Given the description of an element on the screen output the (x, y) to click on. 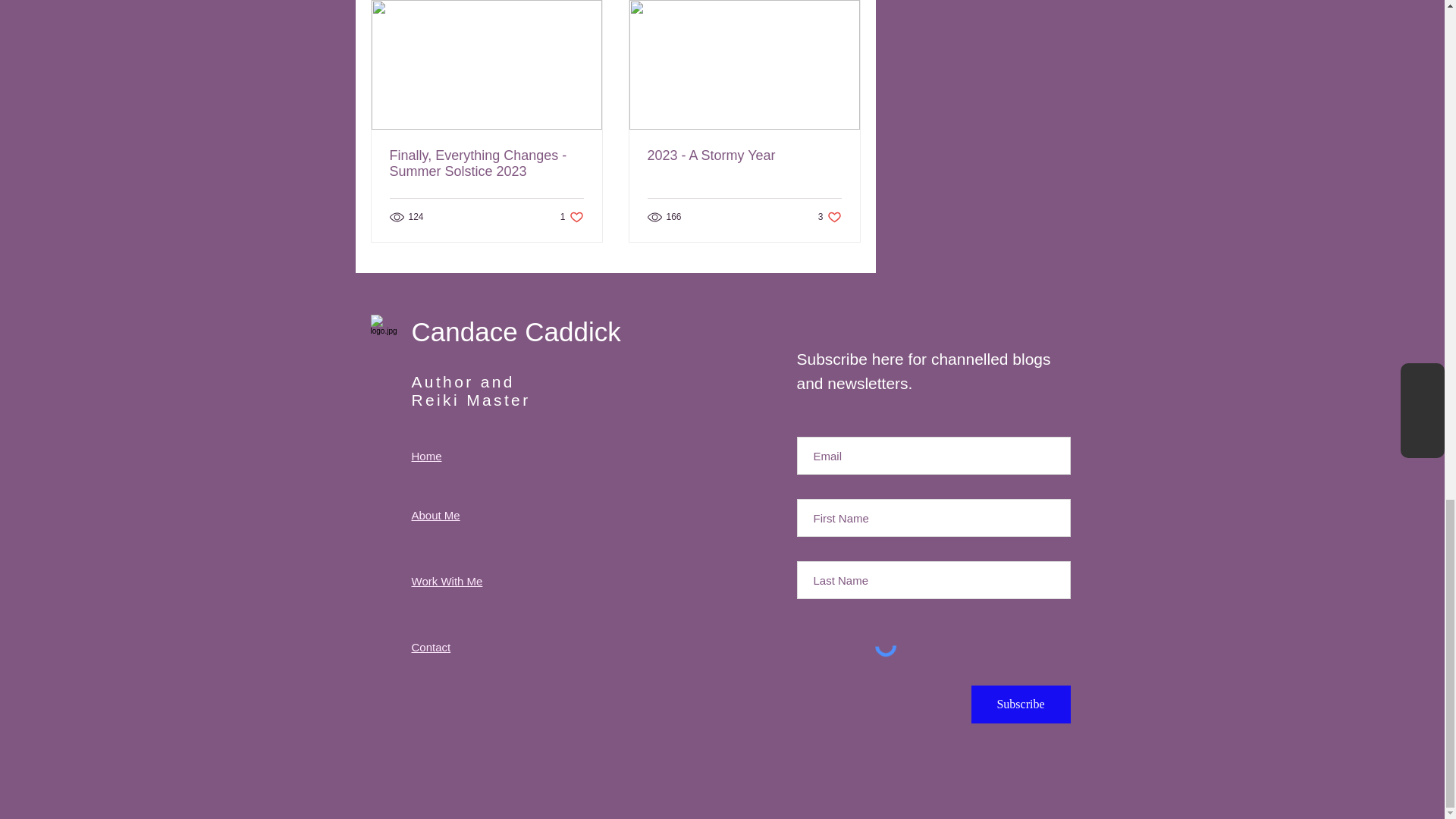
Finally, Everything Changes - Summer Solstice 2023 (486, 163)
2023 - A Stormy Year (829, 216)
